Given the description of an element on the screen output the (x, y) to click on. 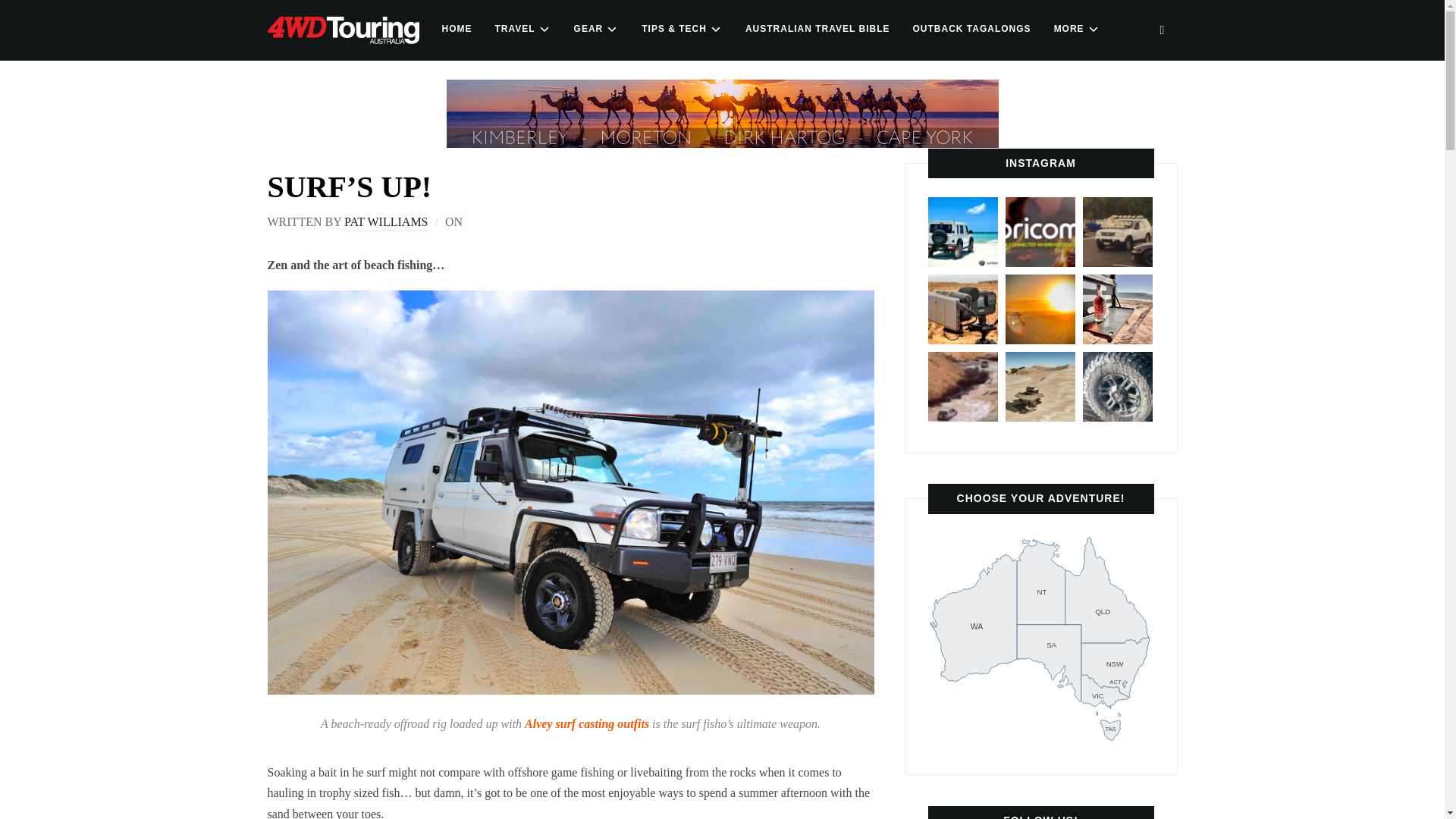
TRAVEL (1041, 639)
HOME (522, 28)
Posts by Pat Williams (456, 28)
Sunshine and rainbows (385, 222)
When the devil drives, needs must. (962, 386)
GEAR (962, 308)
